Given the description of an element on the screen output the (x, y) to click on. 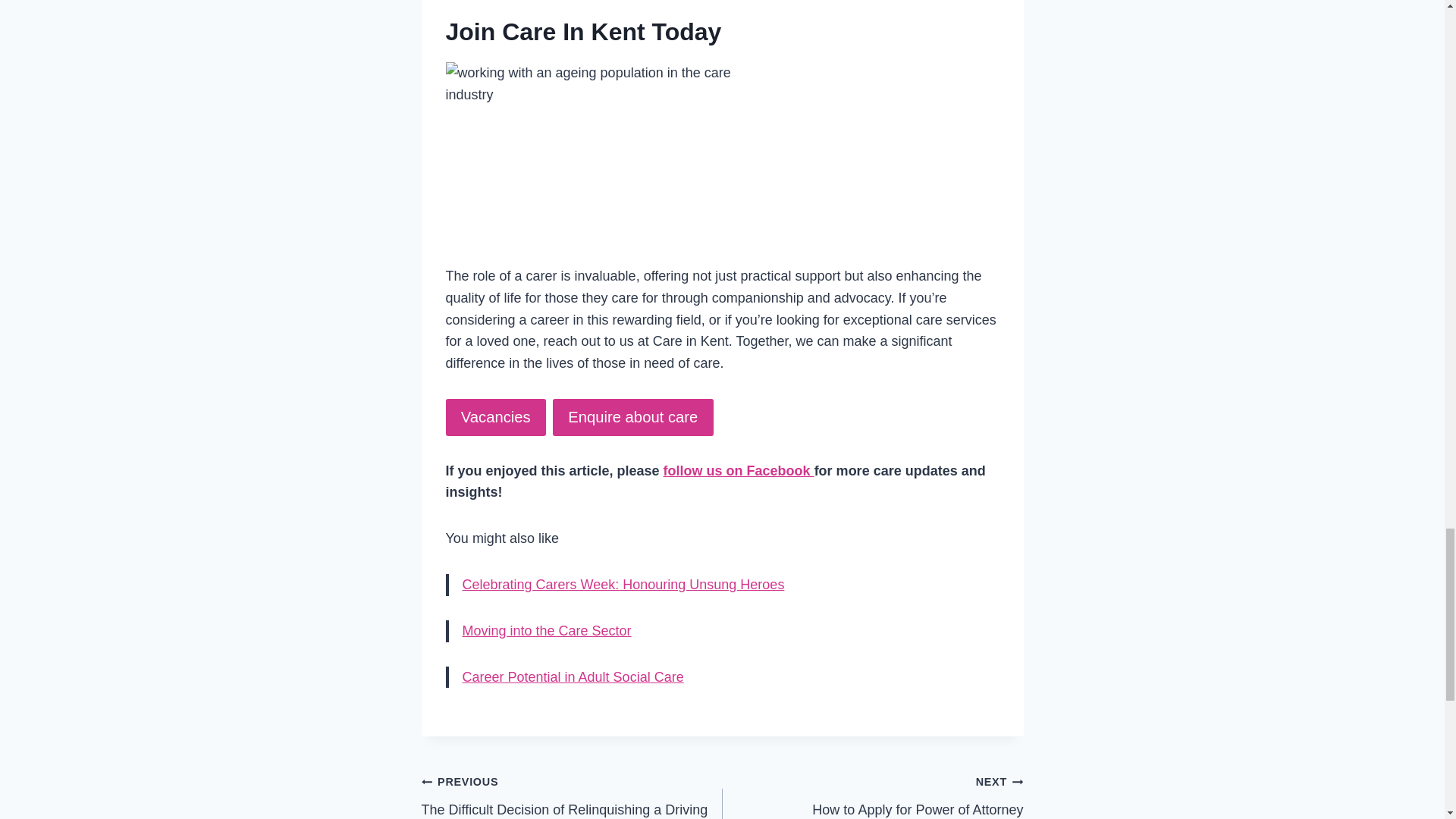
Vacancies (495, 416)
Celebrating Carers Week: Honouring Unsung Heroes (623, 584)
follow us on Facebook  (738, 470)
Moving into the Care Sector (547, 630)
Career Potential in Adult Social Care (573, 676)
Enquire about care (872, 794)
